Given the description of an element on the screen output the (x, y) to click on. 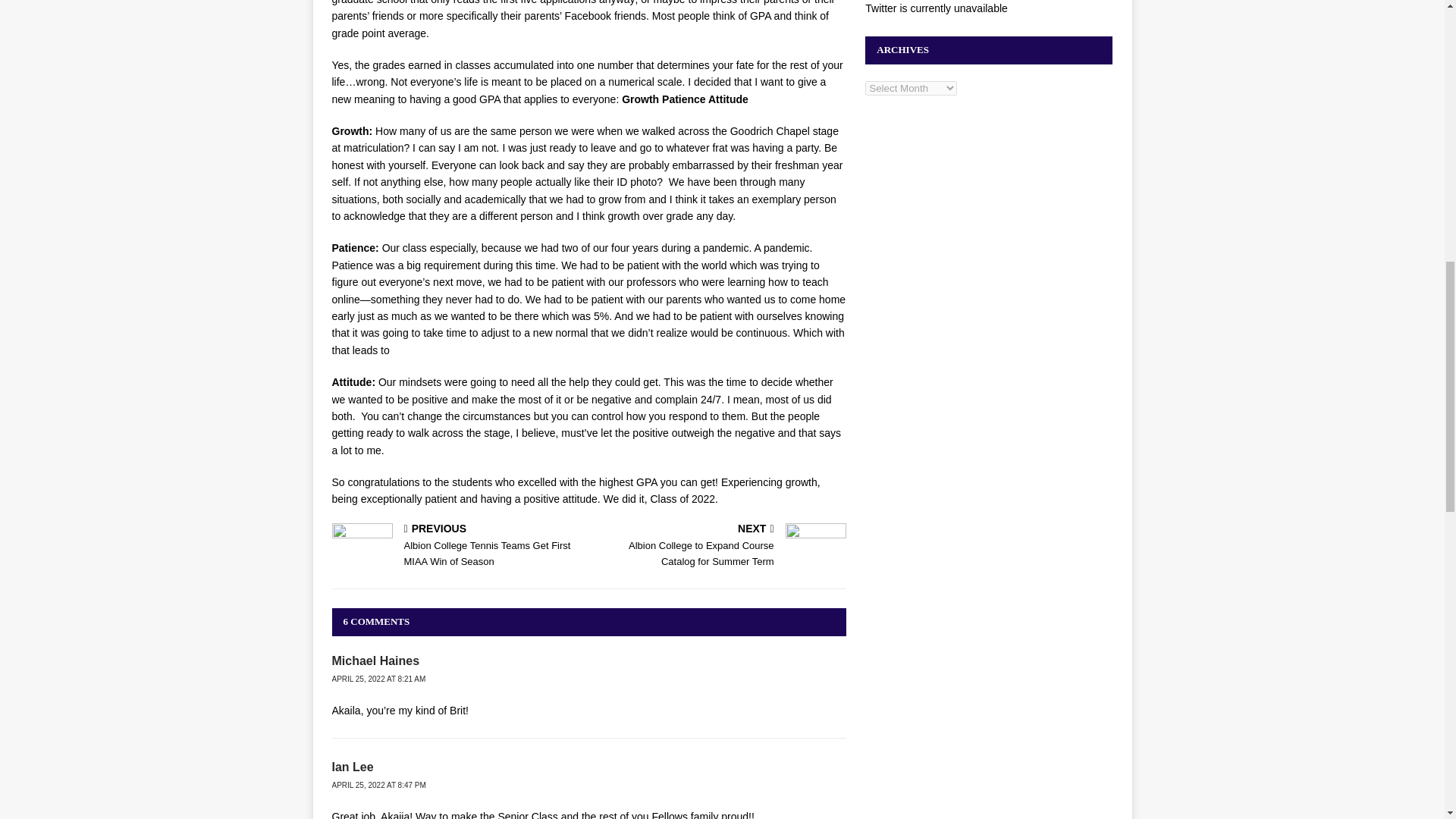
APRIL 25, 2022 AT 8:47 PM (720, 546)
APRIL 25, 2022 AT 8:21 AM (378, 785)
